Given the description of an element on the screen output the (x, y) to click on. 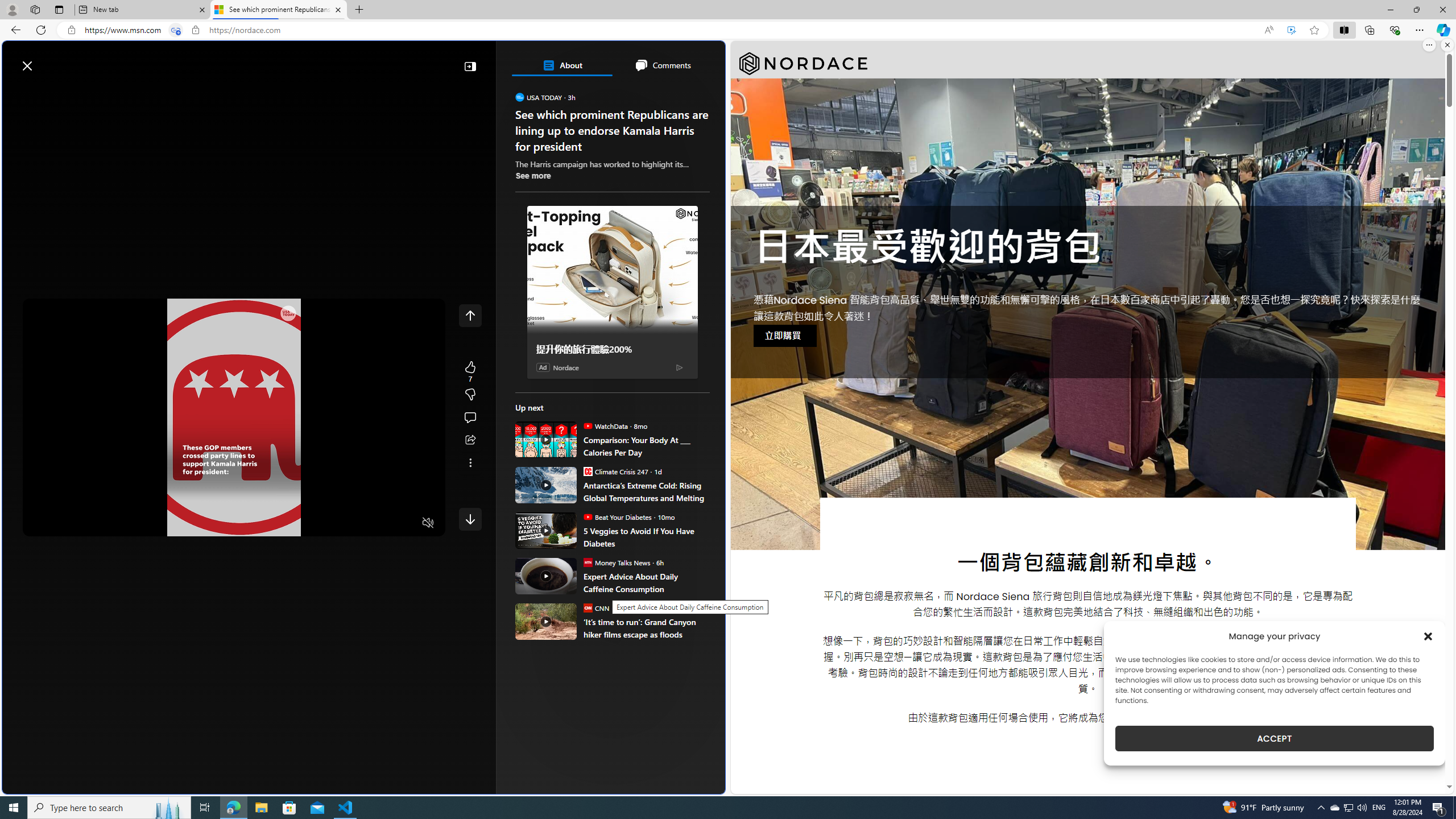
Tabs in split screen (175, 29)
USA TODAY (519, 96)
5 Veggies to Avoid If You Have Diabetes (646, 537)
Love dogs? We do, too. (616, 163)
Climate Crisis 247 (587, 470)
